Given the description of an element on the screen output the (x, y) to click on. 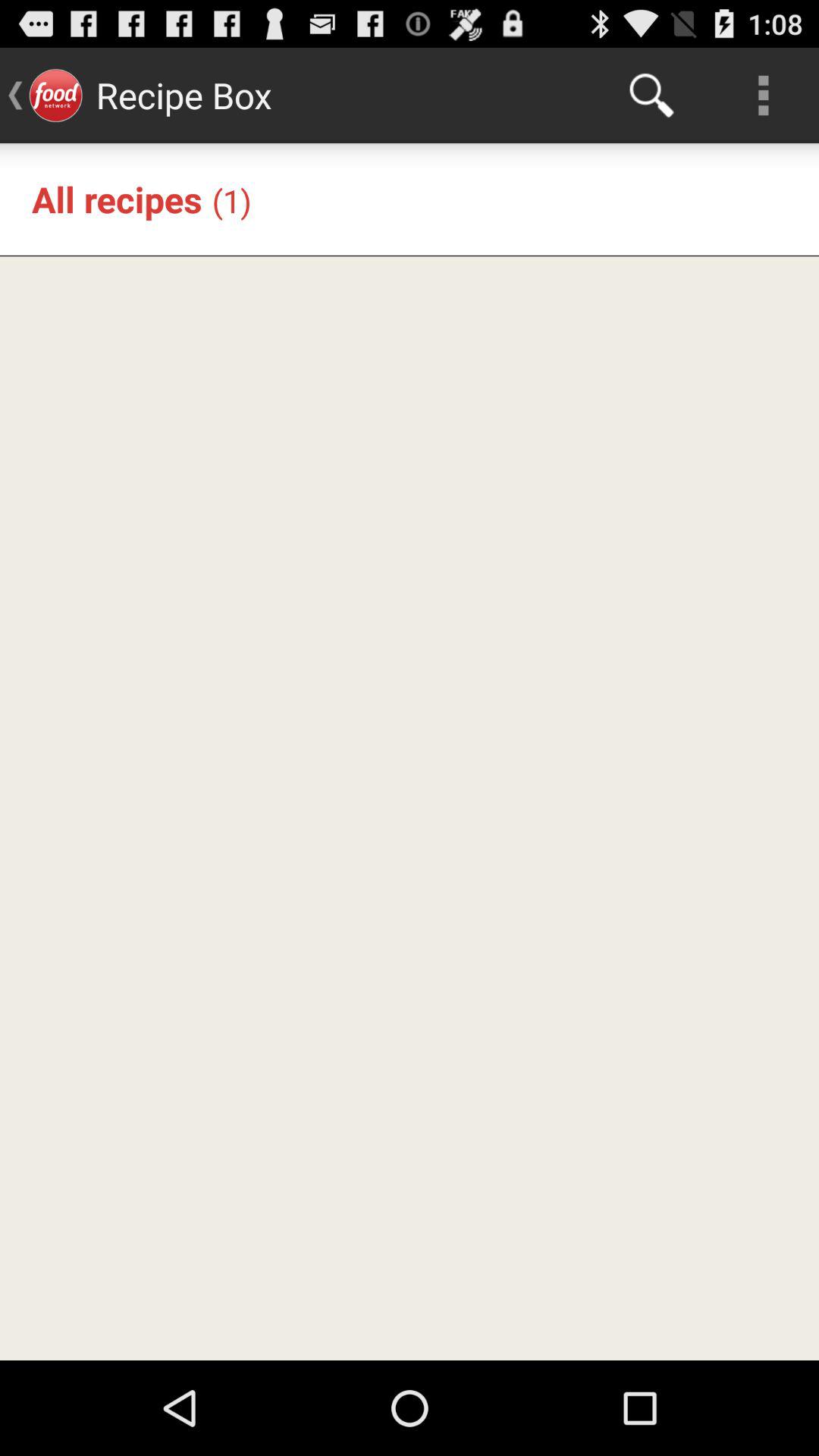
turn on icon below the recipe box app (231, 200)
